Given the description of an element on the screen output the (x, y) to click on. 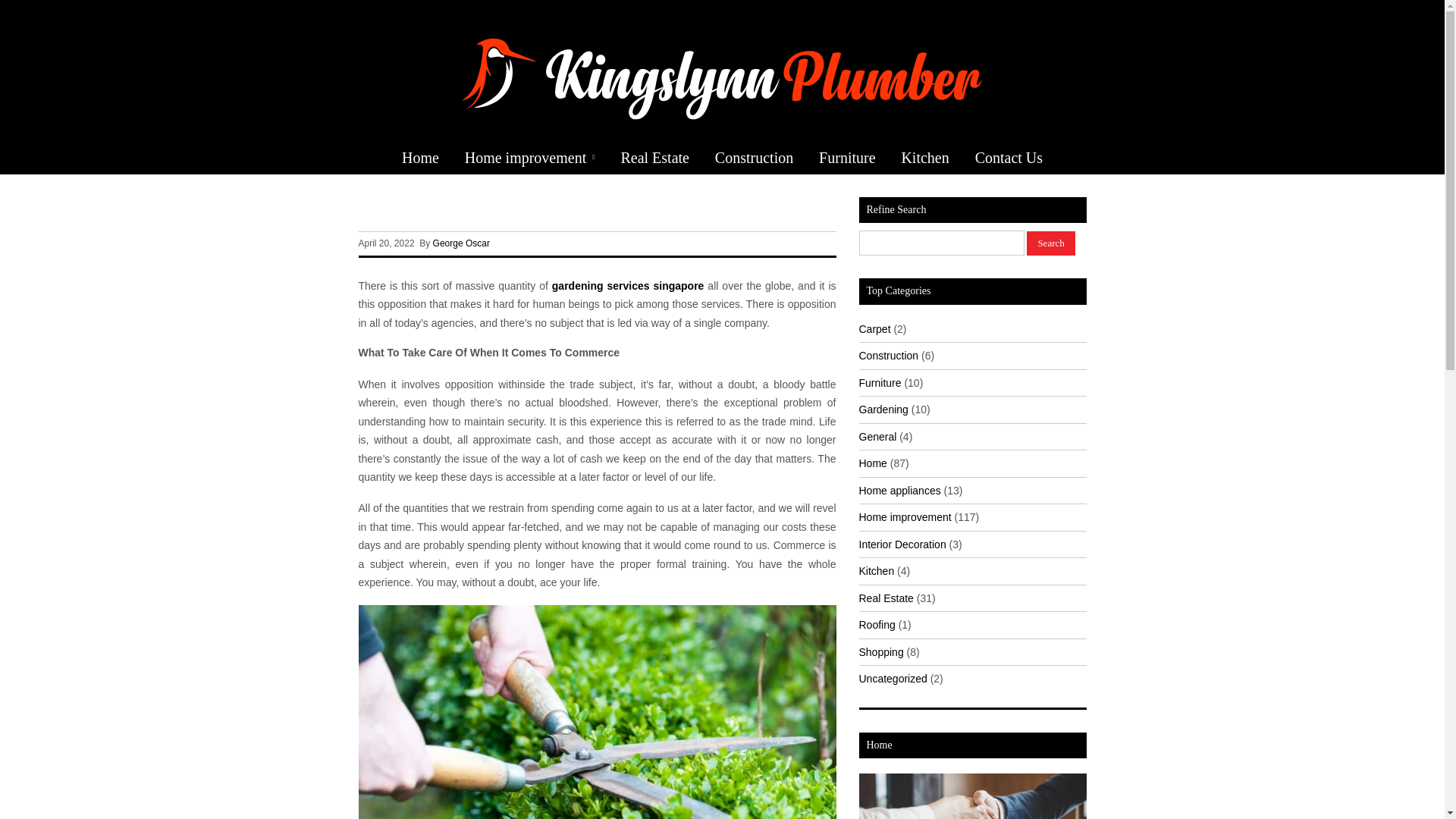
Home (419, 157)
Furniture (847, 157)
Home appliances (899, 490)
Kitchen (924, 157)
Gardening (883, 409)
gardening services singapore (627, 285)
Construction (754, 157)
Home (872, 463)
Search (1050, 242)
General (877, 436)
Real Estate (654, 157)
Contact Us (1008, 157)
Furniture (880, 381)
Home improvement (529, 157)
Carpet (874, 328)
